Given the description of an element on the screen output the (x, y) to click on. 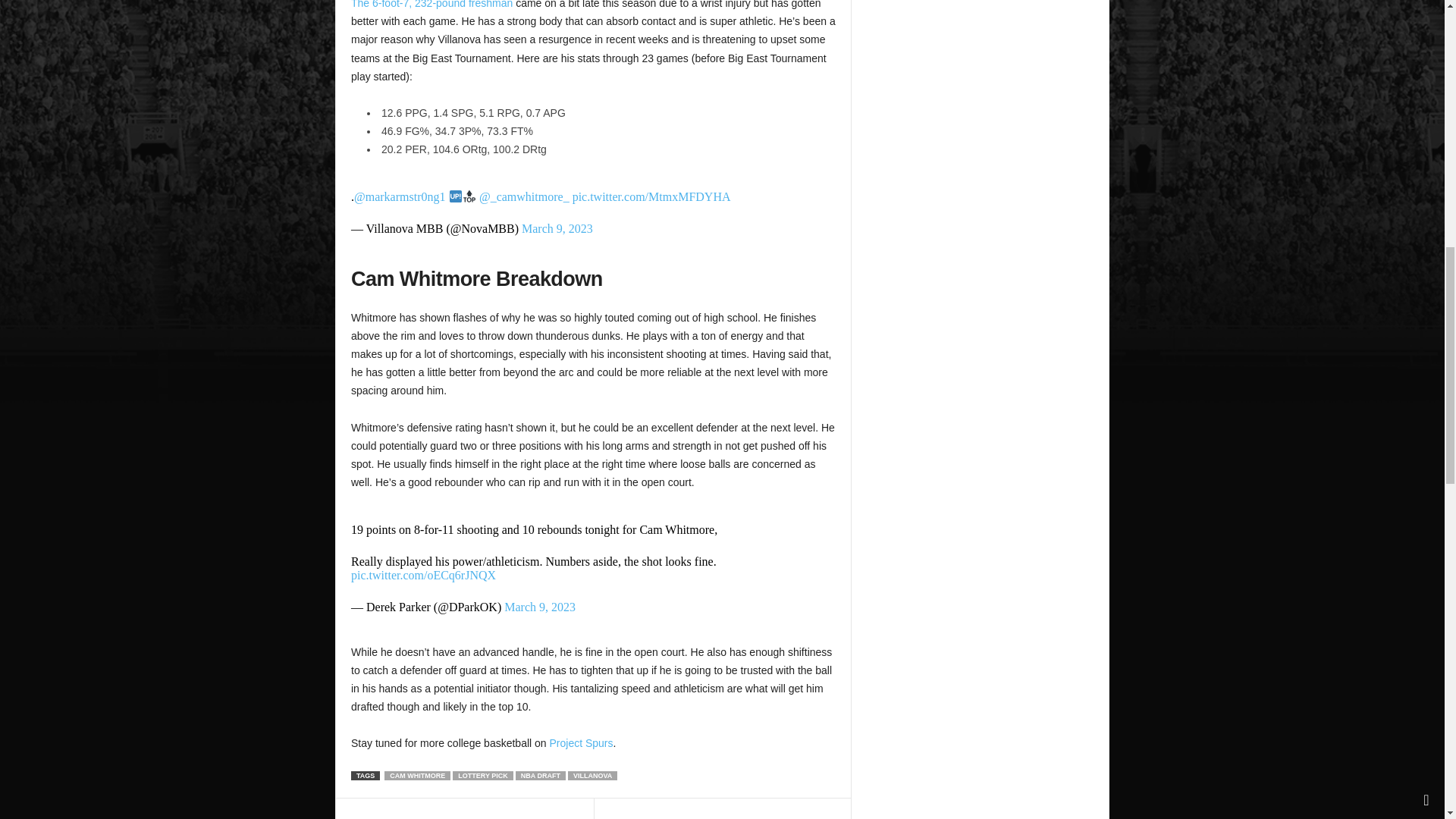
The 6-foot-7, 232-pound freshman (431, 4)
